Given the description of an element on the screen output the (x, y) to click on. 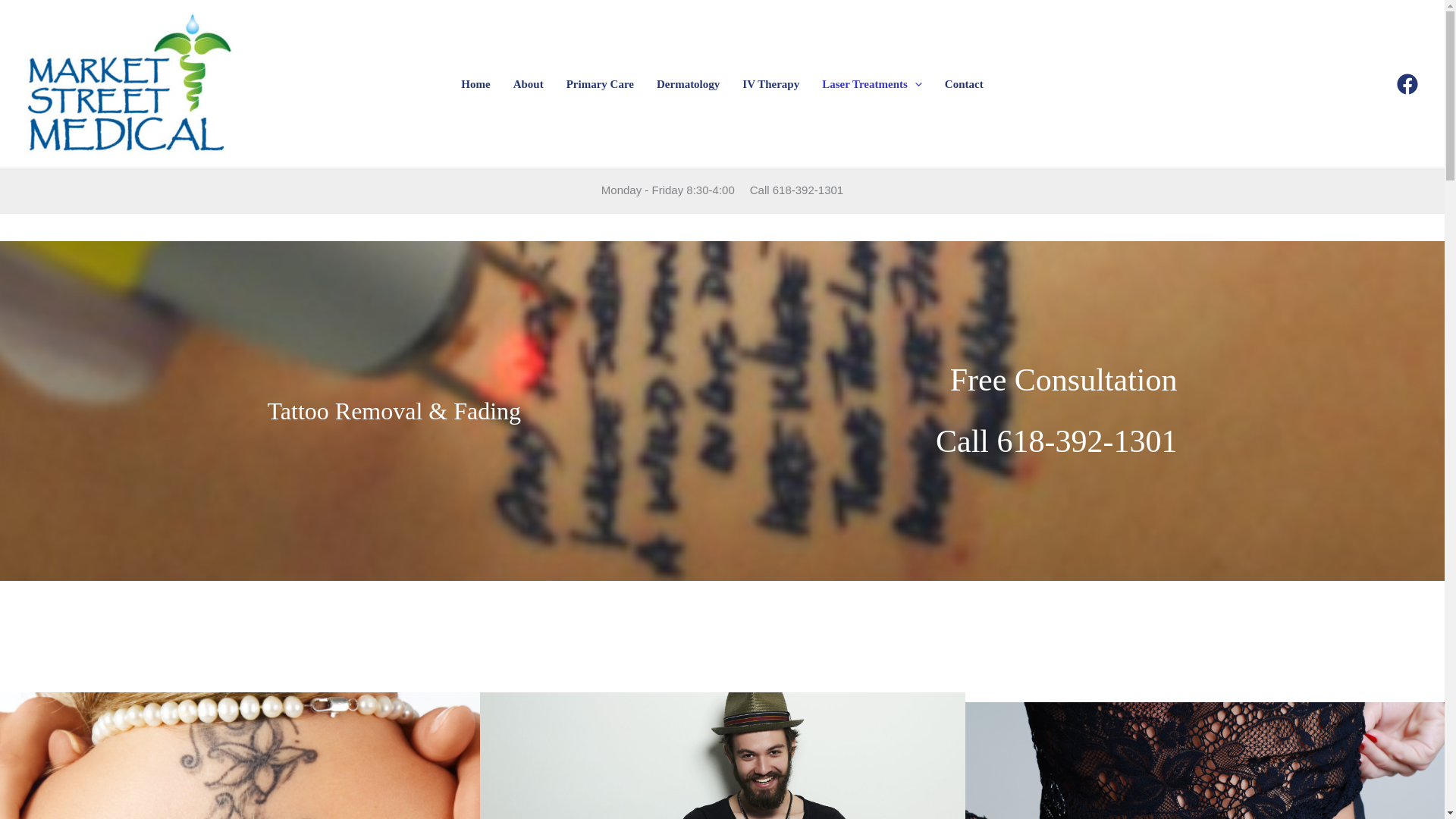
Home (474, 83)
IV Therapy (770, 83)
Contact (963, 83)
About (528, 83)
Laser Treatments (871, 83)
Dermatology (687, 83)
Primary Care (599, 83)
